Given the description of an element on the screen output the (x, y) to click on. 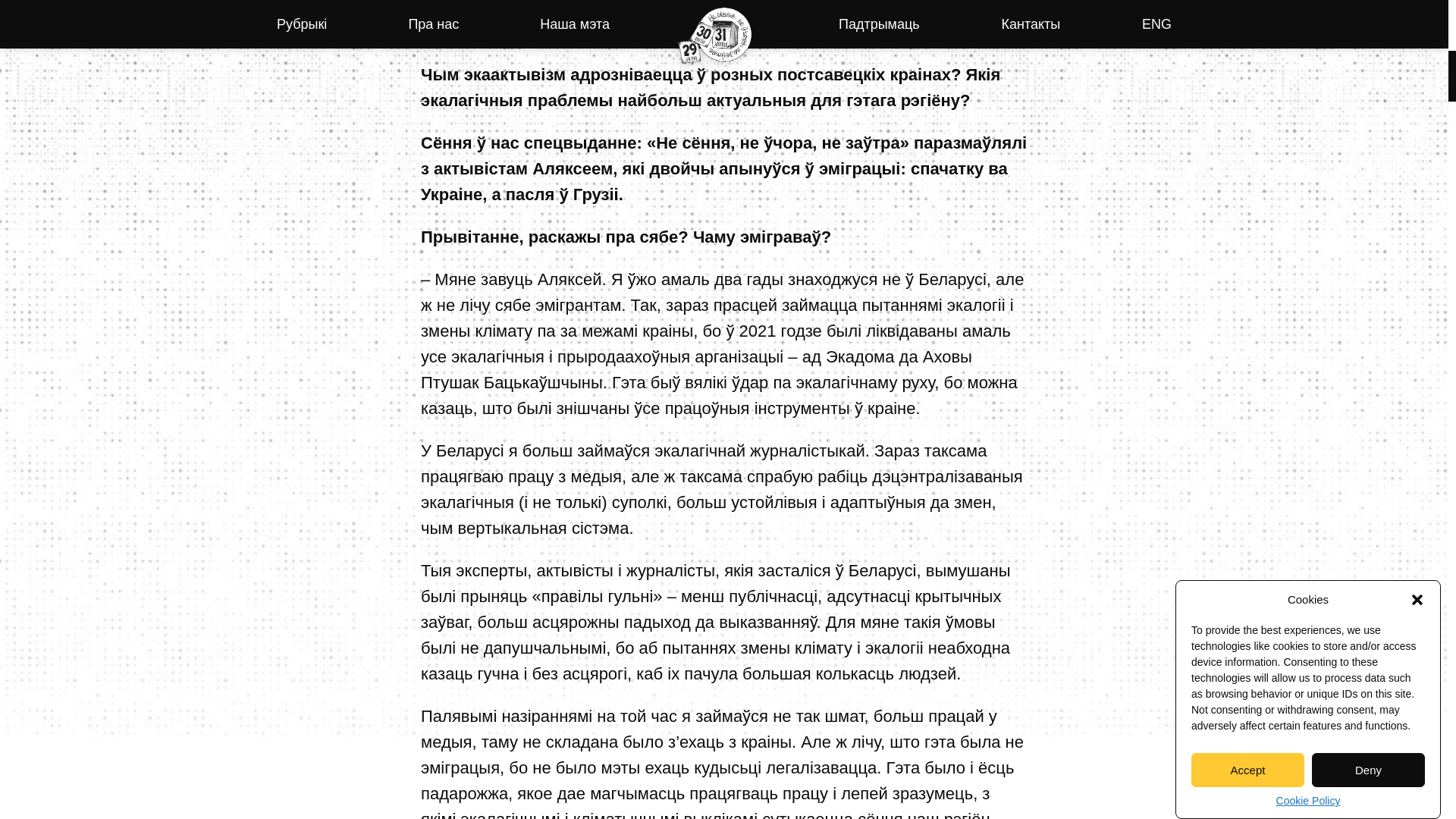
Deny (1368, 239)
Accept (1247, 270)
Cookie Policy (1308, 167)
